Given the description of an element on the screen output the (x, y) to click on. 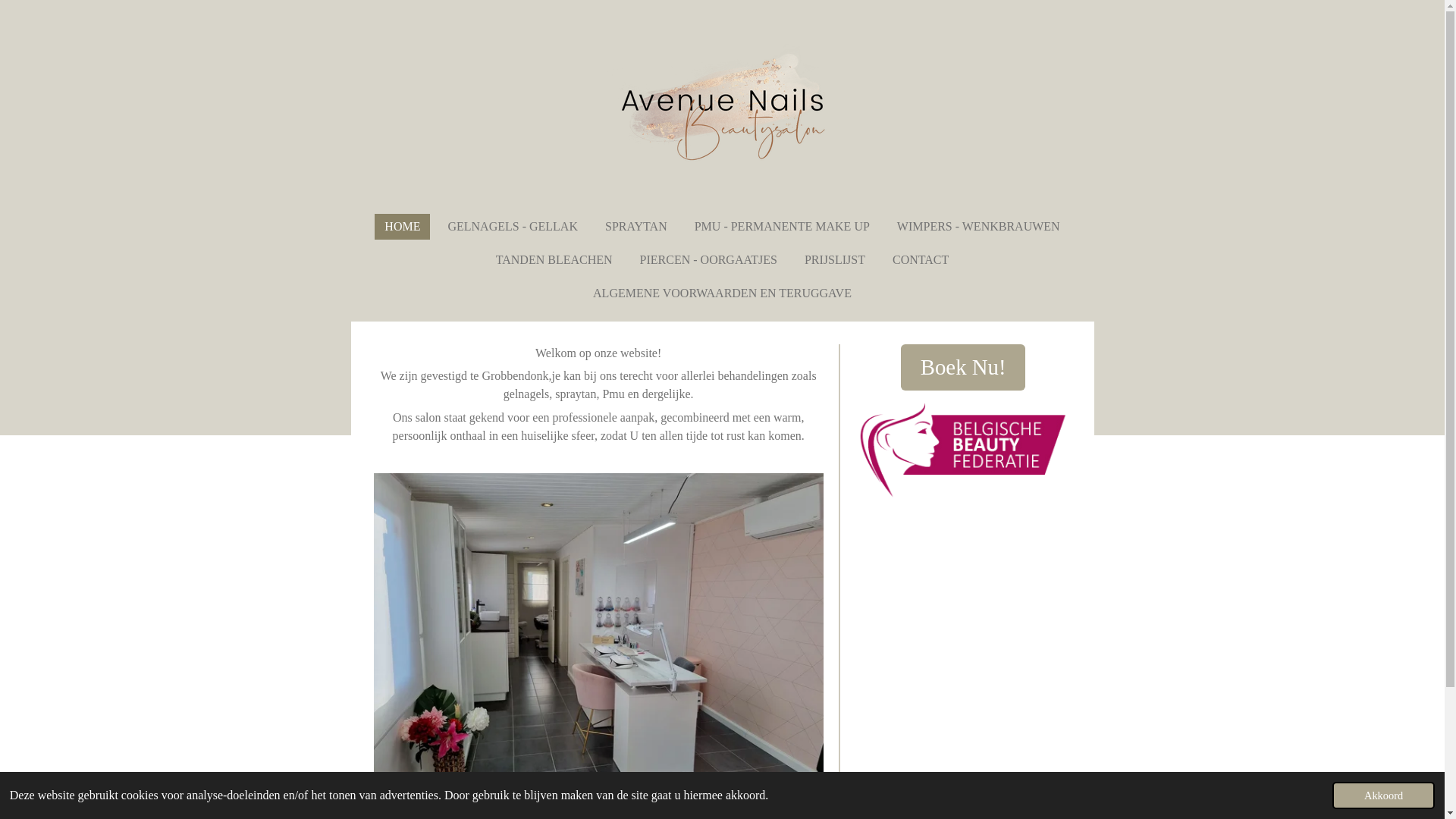
PRIJSLIJST Element type: text (834, 260)
ALGEMENE VOORWAARDEN EN TERUGGAVE Element type: text (722, 293)
Akkoord Element type: text (1383, 795)
PMU - PERMANENTE MAKE UP Element type: text (781, 226)
GELNAGELS - GELLAK Element type: text (512, 226)
TANDEN BLEACHEN Element type: text (554, 260)
www.avenue-nails.be Element type: hover (721, 106)
WIMPERS - WENKBRAUWEN Element type: text (978, 226)
CONTACT Element type: text (920, 260)
Boek Nu! Element type: text (963, 367)
HOME Element type: text (401, 226)
PIERCEN - OORGAATJES Element type: text (708, 260)
SPRAYTAN Element type: text (636, 226)
